Given the description of an element on the screen output the (x, y) to click on. 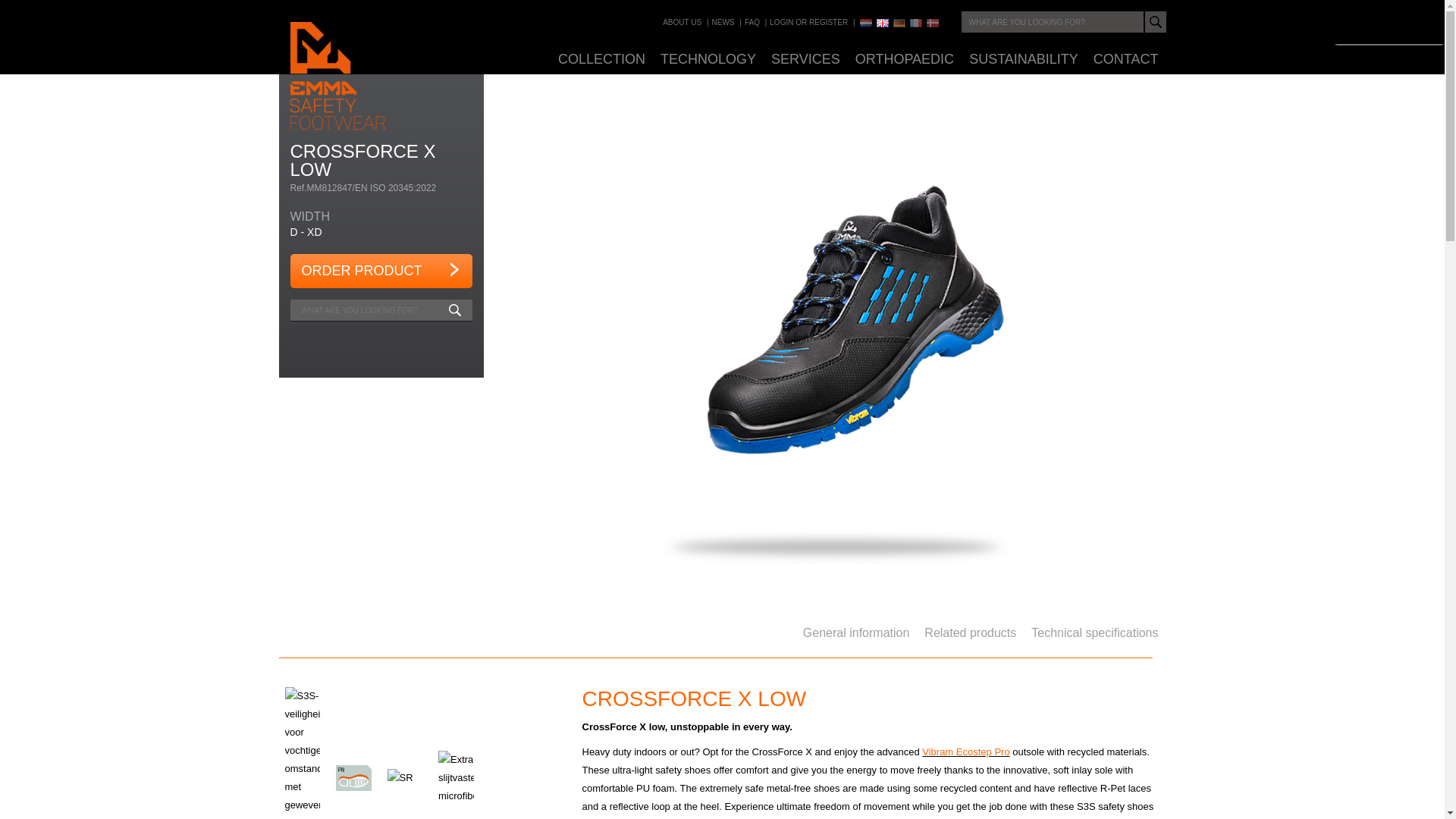
NEWS (723, 22)
EN (882, 22)
Faq (751, 22)
DE (899, 22)
Login or register (808, 22)
DK (932, 22)
NL (866, 22)
ABOUT US (681, 22)
about us (681, 22)
FAQ (751, 22)
